Given the description of an element on the screen output the (x, y) to click on. 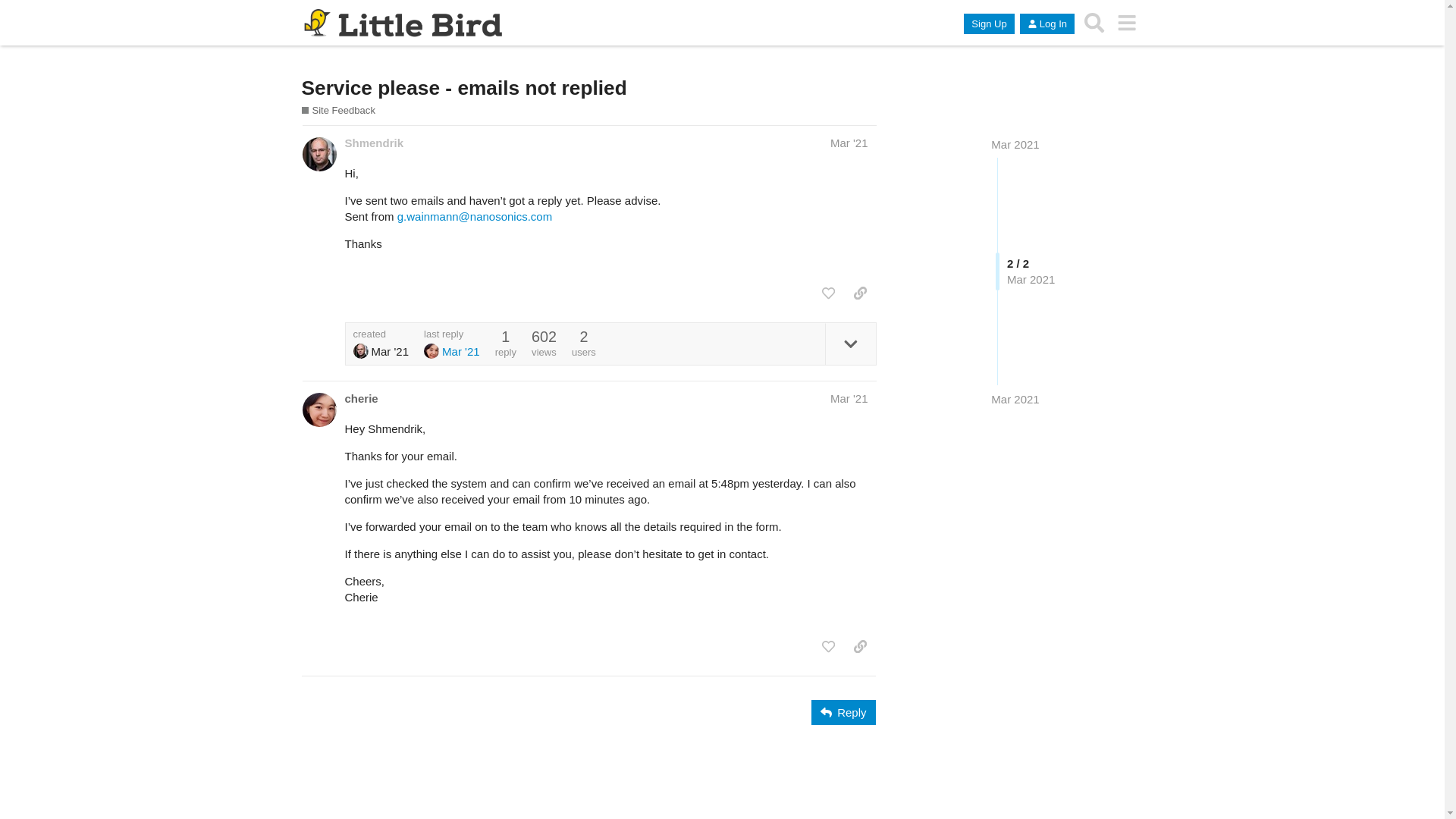
go to another topic list or category Element type: hover (1126, 22)
last reply
Mar '21 Element type: text (451, 344)
Reply Element type: text (843, 711)
toggle topic details Element type: hover (850, 343)
Service please - emails not replied Element type: text (464, 87)
cherie Element type: text (360, 398)
g.wainmann@nanosonics.com Element type: text (474, 216)
Gabriel Wainmann Element type: hover (360, 350)
Cherie Tan Element type: hover (431, 350)
Mar '21 Element type: text (849, 142)
share a link to this post Element type: hover (860, 293)
Mar '21 Element type: text (849, 398)
search topics, posts, users, or categories Element type: hover (1094, 22)
Sign Up Element type: text (988, 23)
Log In Element type: text (1046, 23)
share a link to this post Element type: hover (860, 646)
like this post Element type: hover (828, 293)
Mar 2021 Element type: text (1014, 144)
Shmendrik Element type: text (373, 142)
like this post Element type: hover (828, 646)
Mar 2021 Element type: text (1014, 399)
Site Feedback Element type: text (338, 110)
